Given the description of an element on the screen output the (x, y) to click on. 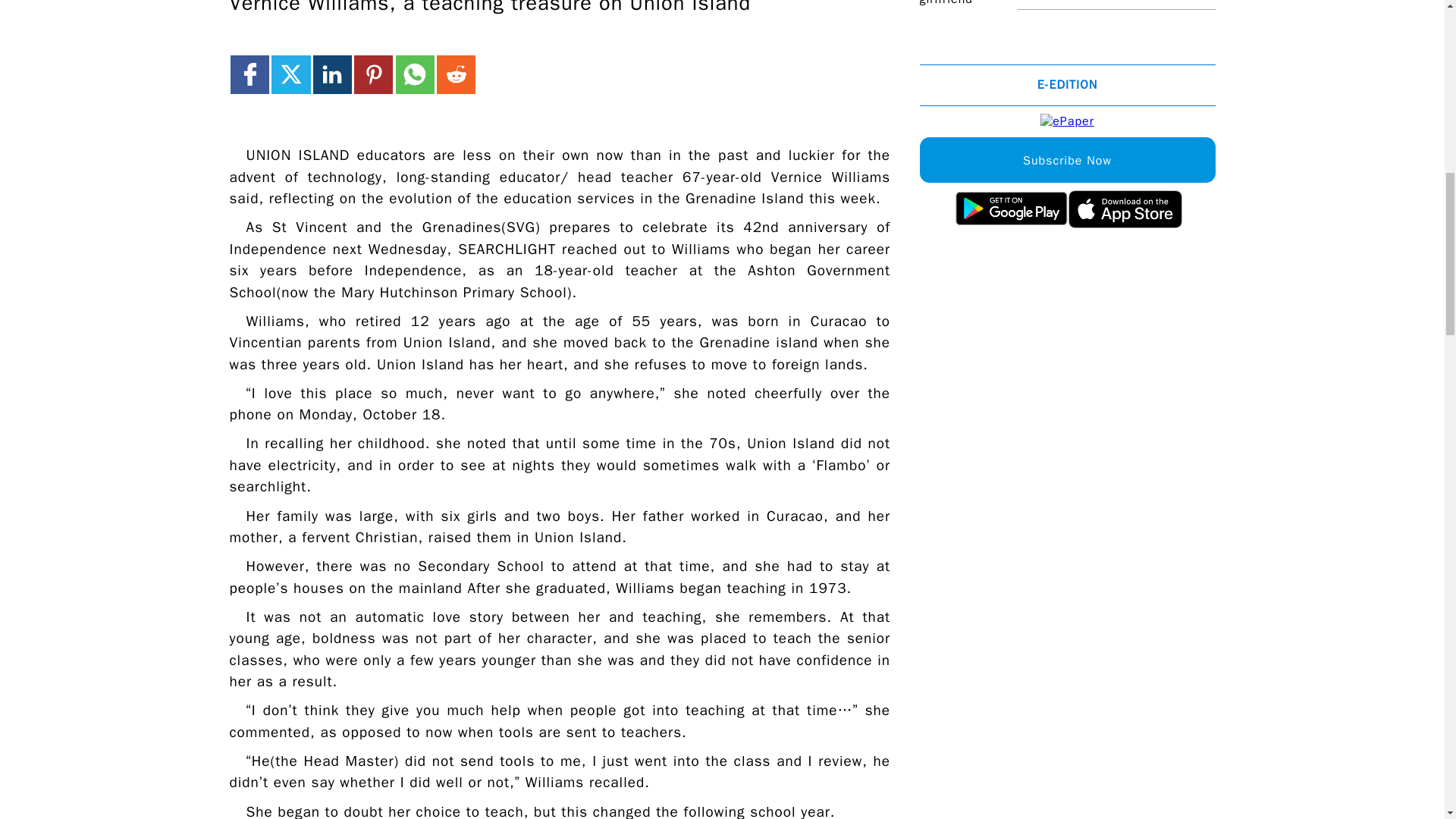
ePaper (1067, 121)
